Given the description of an element on the screen output the (x, y) to click on. 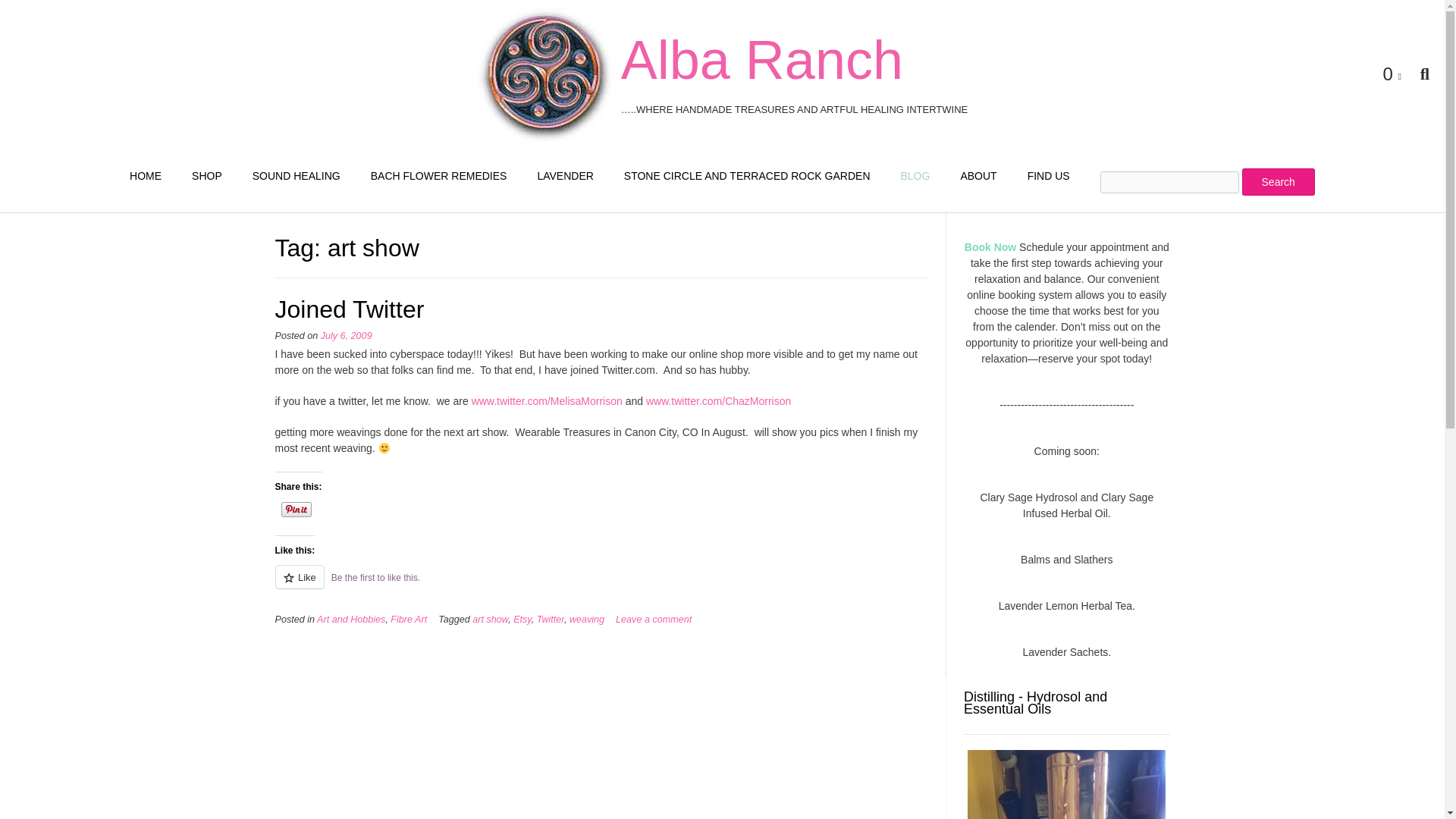
ABOUT (977, 176)
weaving (586, 619)
SOUND HEALING (296, 176)
FIND US (1047, 176)
Twitter (550, 619)
SEARCH FOR: (1207, 181)
Alba Ranch (761, 59)
Leave a comment (653, 619)
Like or Reblog (601, 585)
Book Now (989, 246)
